Given the description of an element on the screen output the (x, y) to click on. 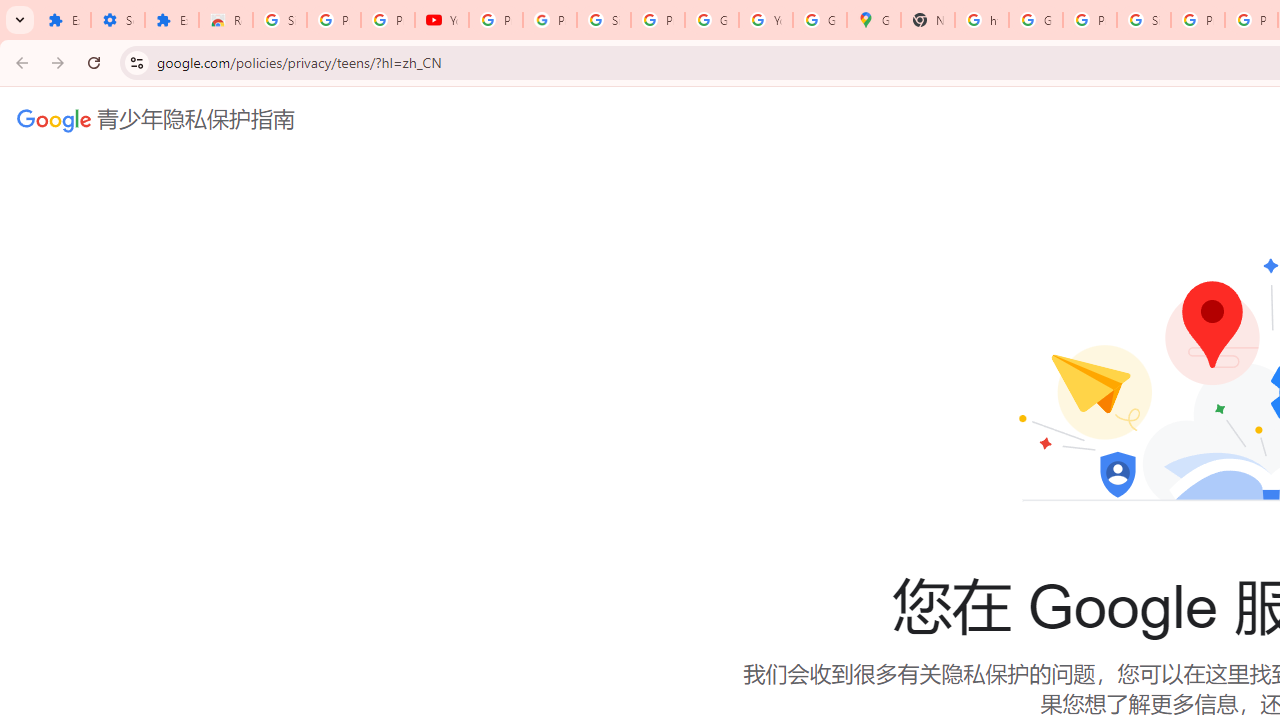
Extensions (63, 20)
Google Account (711, 20)
Extensions (171, 20)
Sign in - Google Accounts (604, 20)
New Tab (927, 20)
https://scholar.google.com/ (981, 20)
